Given the description of an element on the screen output the (x, y) to click on. 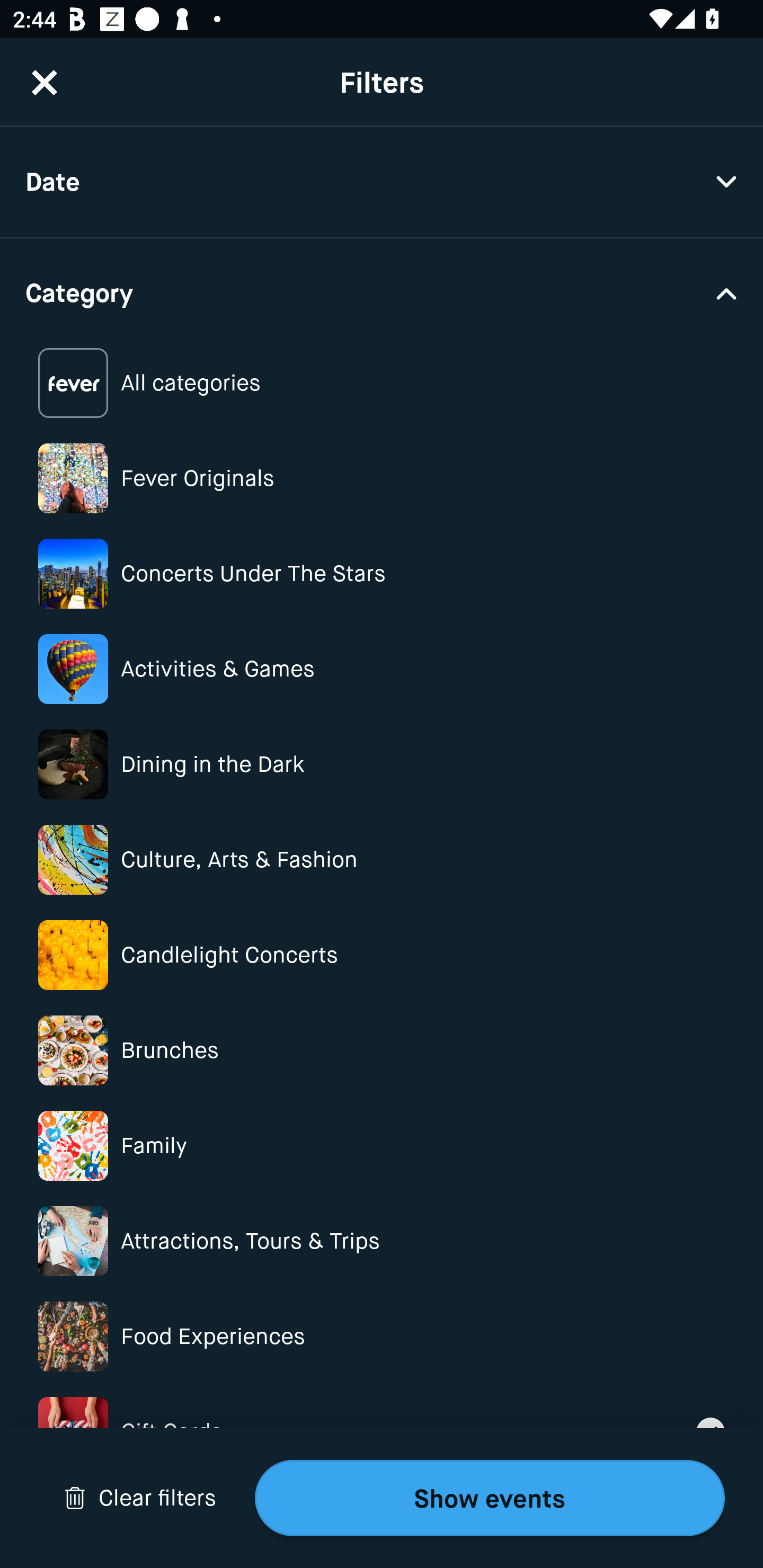
CloseButton (44, 82)
Date Drop Down Arrow (381, 182)
Category Drop Down Arrow (381, 291)
Category Image All categories (381, 382)
Category Image Fever Originals (381, 477)
Category Image Concerts Under The Stars (381, 573)
Category Image Activities & Games (381, 668)
Category Image Dining in the Dark (381, 763)
Category Image Culture, Arts & Fashion (381, 859)
Category Image Candlelight Concerts (381, 954)
Category Image Brunches (381, 1050)
Category Image Family (381, 1145)
Category Image Attractions, Tours & Trips (381, 1240)
Category Image Food Experiences (381, 1336)
Drop Down Arrow Clear filters (139, 1497)
Show events (489, 1497)
